Given the description of an element on the screen output the (x, y) to click on. 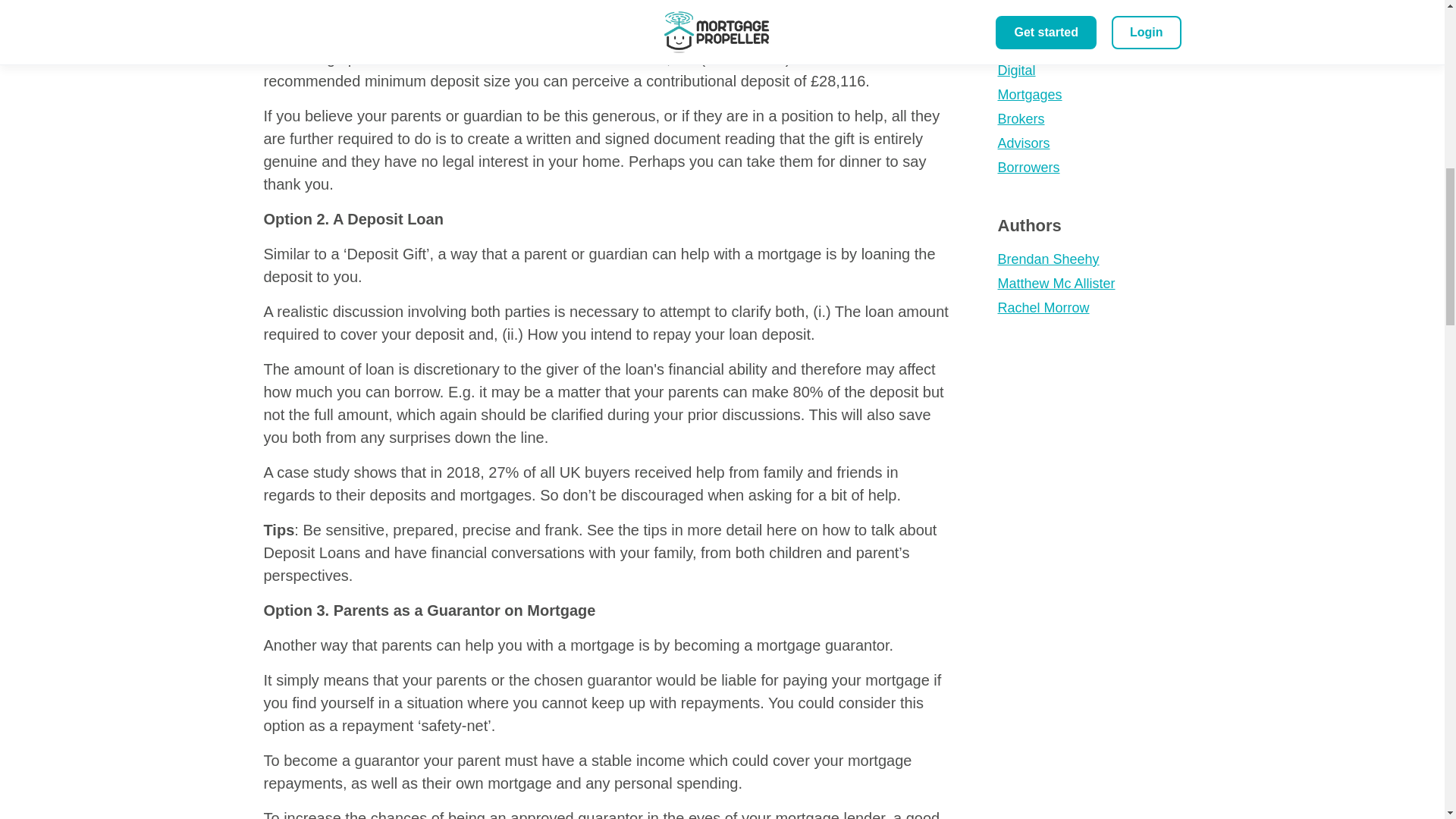
recommended minimum deposit size (387, 80)
2018 (463, 472)
here (781, 529)
